Given the description of an element on the screen output the (x, y) to click on. 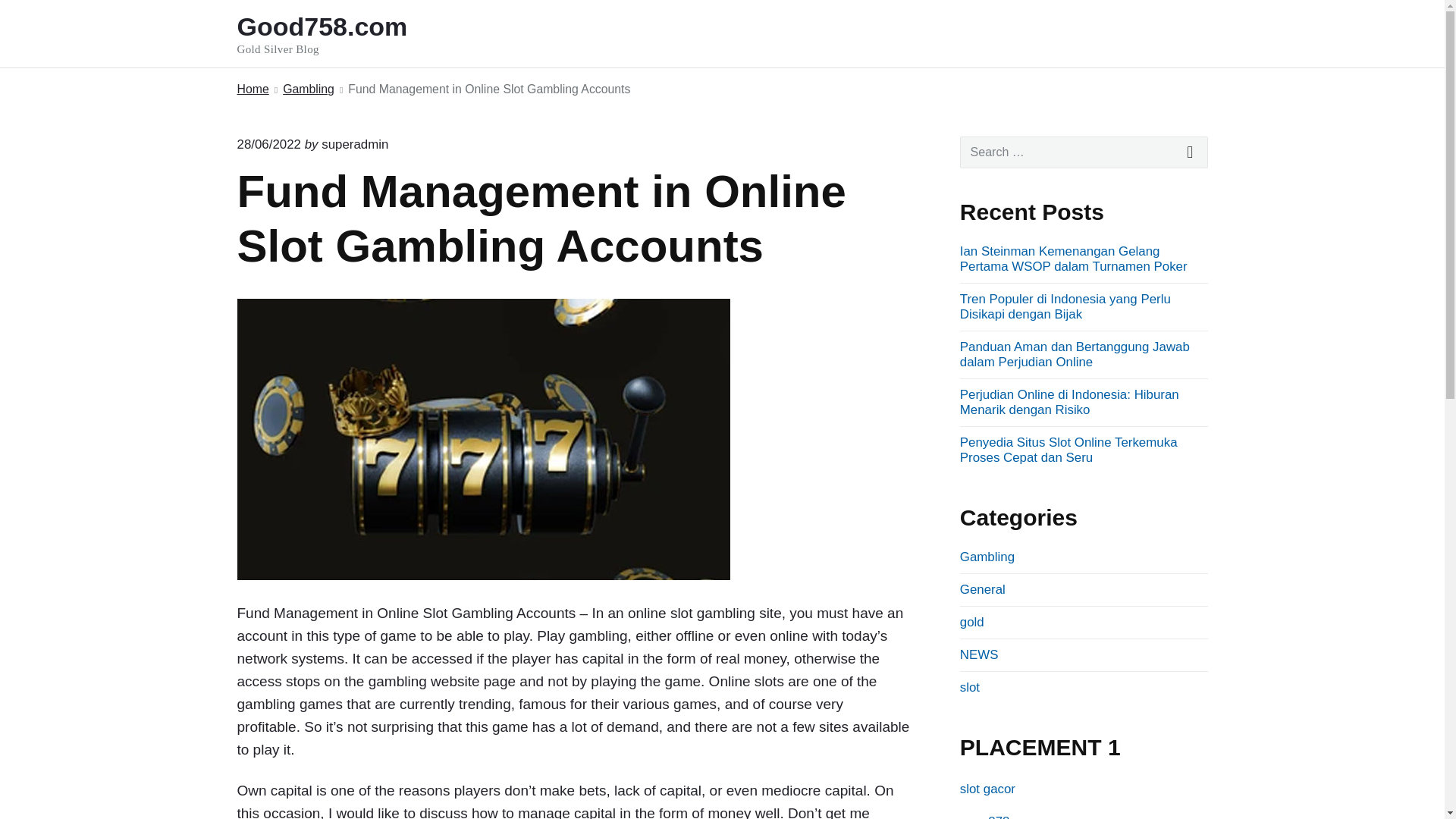
slot gacor (986, 789)
Posts by superadmin (354, 144)
Tren Populer di Indonesia yang Perlu Disikapi dengan Bijak (1064, 306)
Panduan Aman dan Bertanggung Jawab dalam Perjudian Online (1074, 354)
superadmin (341, 33)
Search for: (354, 144)
SEARCH (1083, 152)
Tuesday, June 28, 2022, 11:52 am (1190, 152)
Gambling (267, 144)
Home (308, 89)
Perjudian Online di Indonesia: Hiburan Menarik dengan Risiko (251, 89)
